Given the description of an element on the screen output the (x, y) to click on. 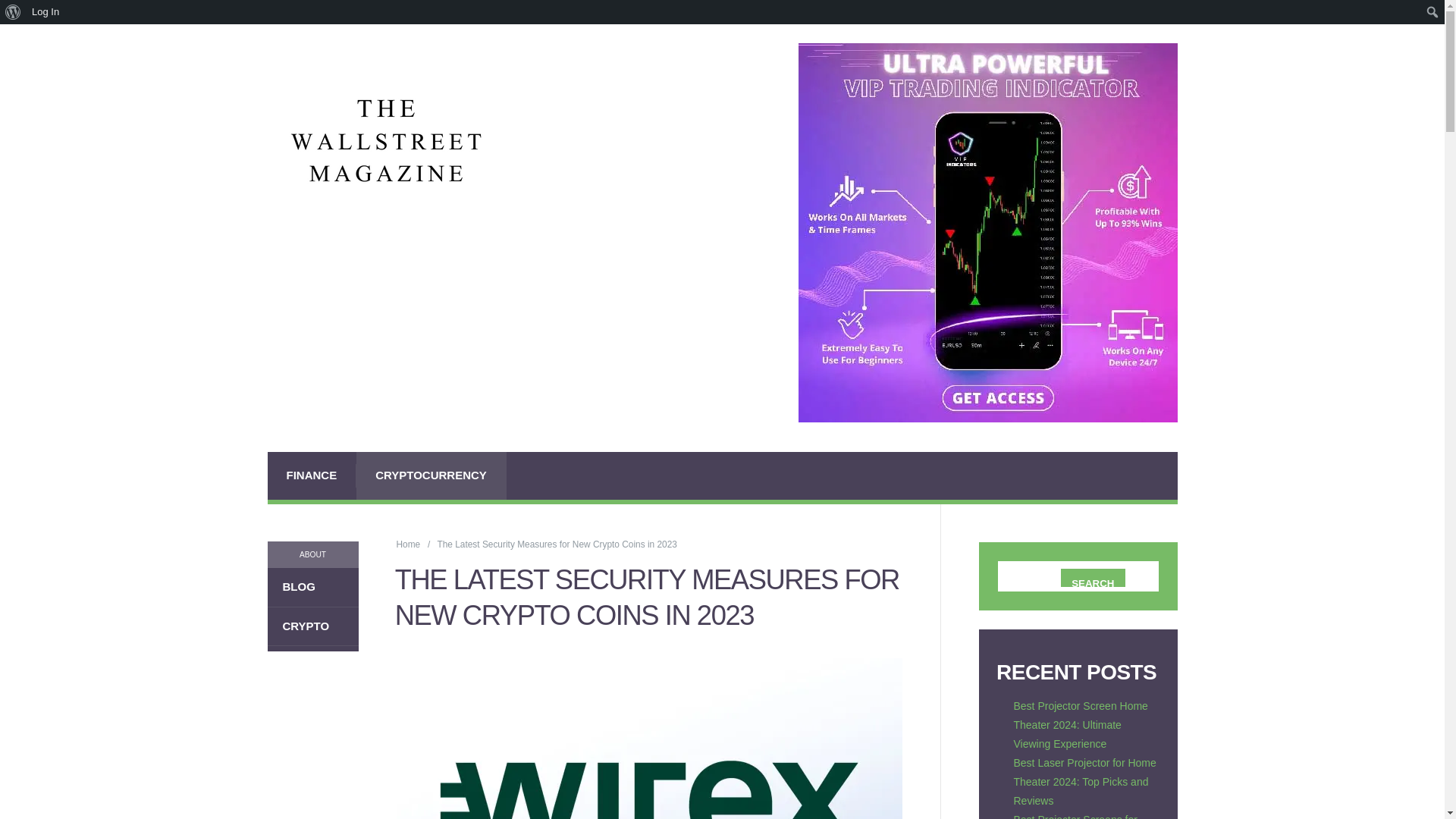
Search (15, 6)
Home (408, 543)
CRYPTOCURRENCY (431, 475)
FINANCE (311, 475)
BLOG (312, 586)
CRYPTO (312, 626)
The Wall Street Magazine (408, 543)
SEARCH (1092, 577)
Log In (45, 12)
